Given the description of an element on the screen output the (x, y) to click on. 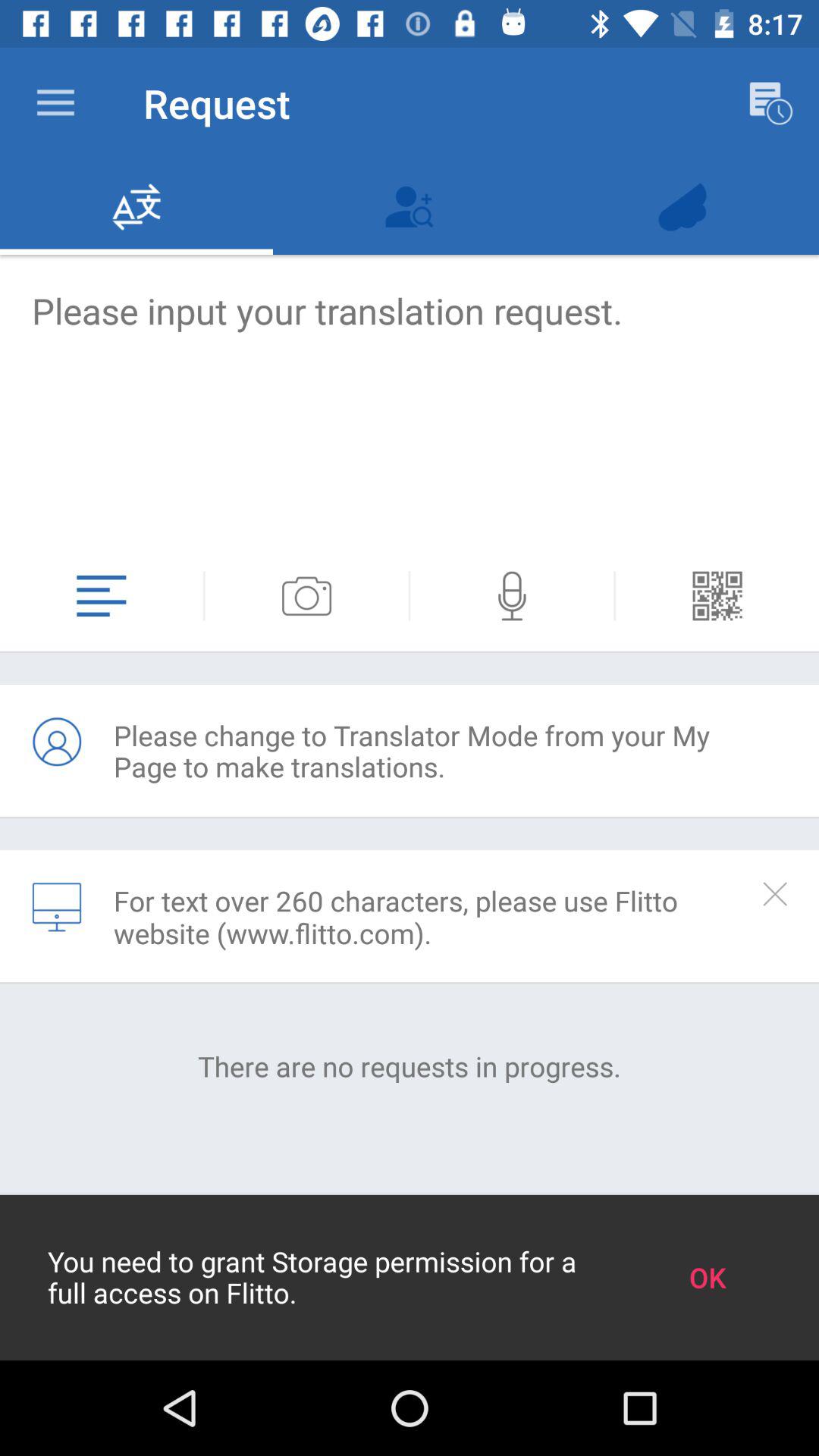
choose app to the right of the for text over (775, 894)
